Given the description of an element on the screen output the (x, y) to click on. 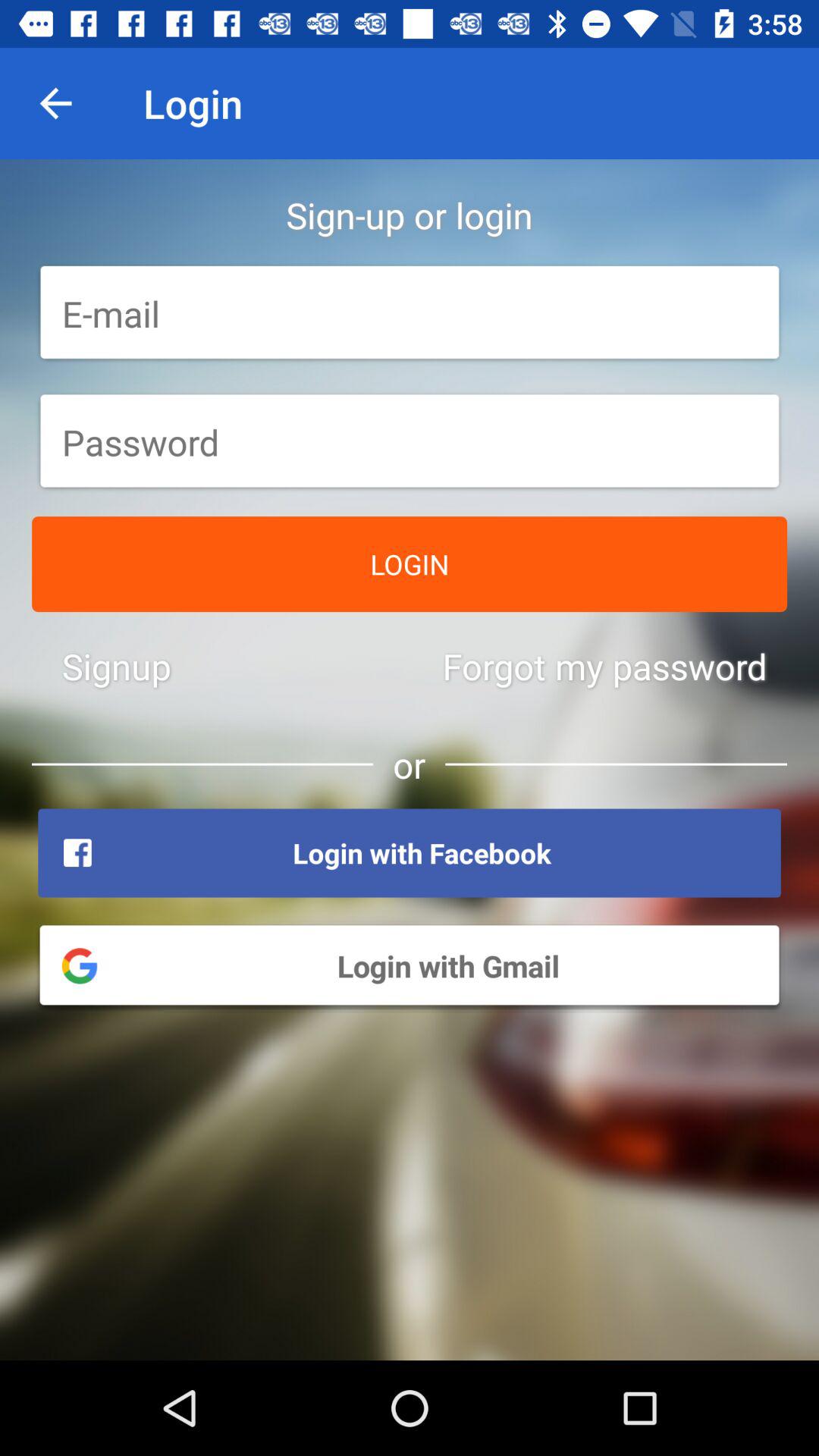
choose the icon to the right of signup item (604, 665)
